Given the description of an element on the screen output the (x, y) to click on. 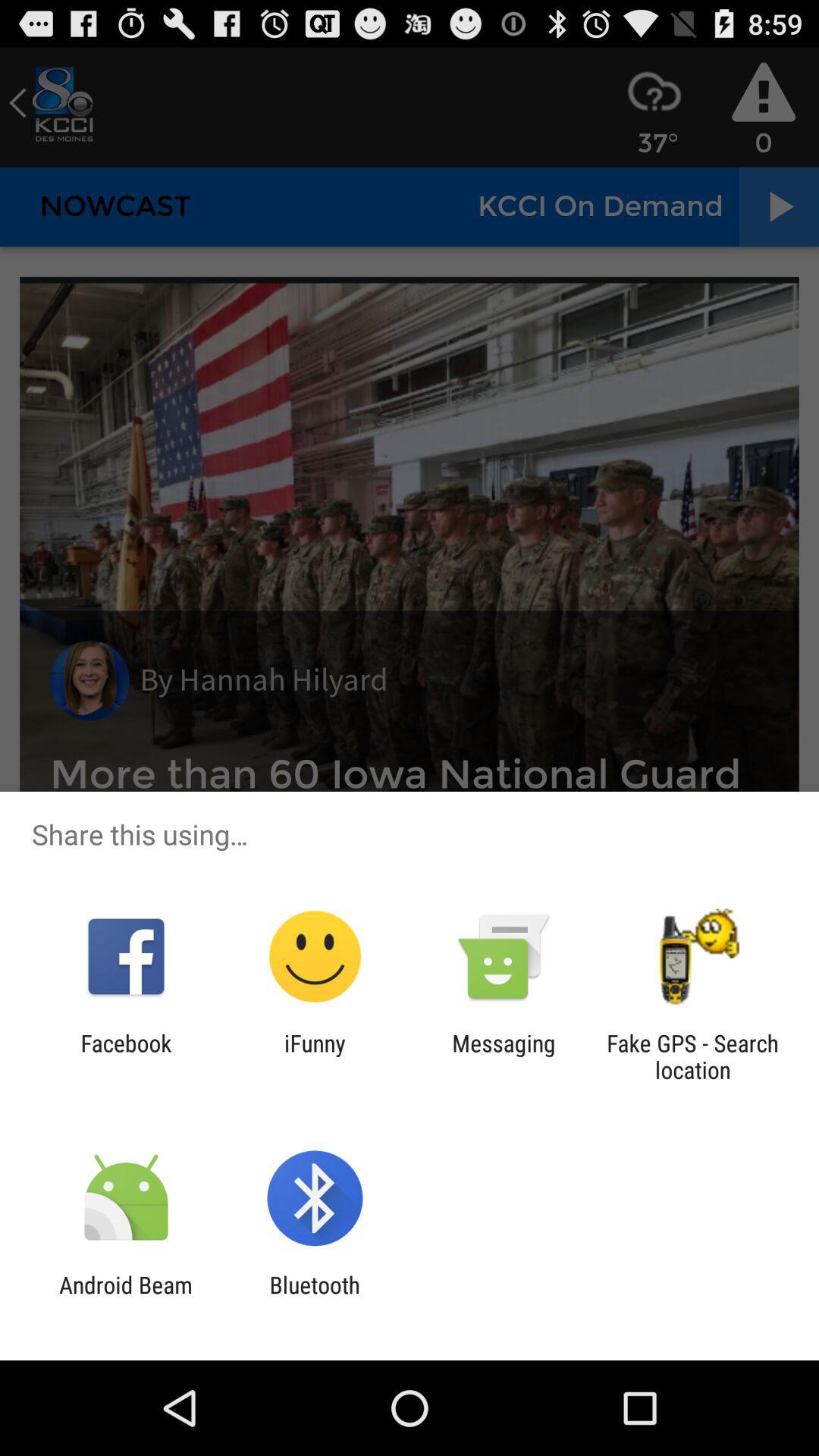
select the icon to the left of the fake gps search app (503, 1056)
